Given the description of an element on the screen output the (x, y) to click on. 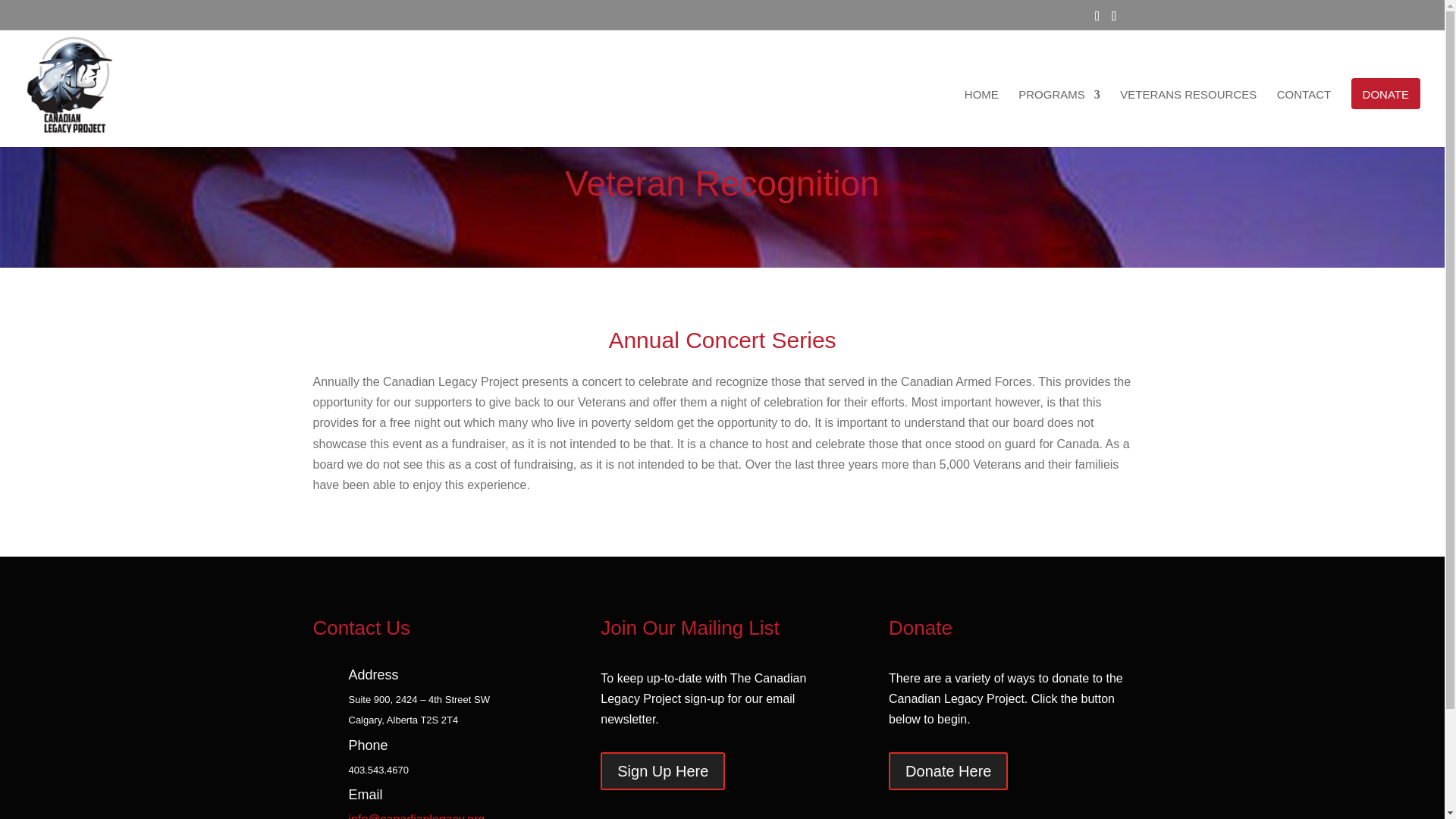
Sign Up Here (662, 771)
Phone (368, 744)
PROGRAMS (1058, 98)
DONATE (1386, 92)
VETERANS RESOURCES (1187, 98)
HOME (980, 98)
CONTACT (1303, 98)
Donate Here (947, 771)
